Given the description of an element on the screen output the (x, y) to click on. 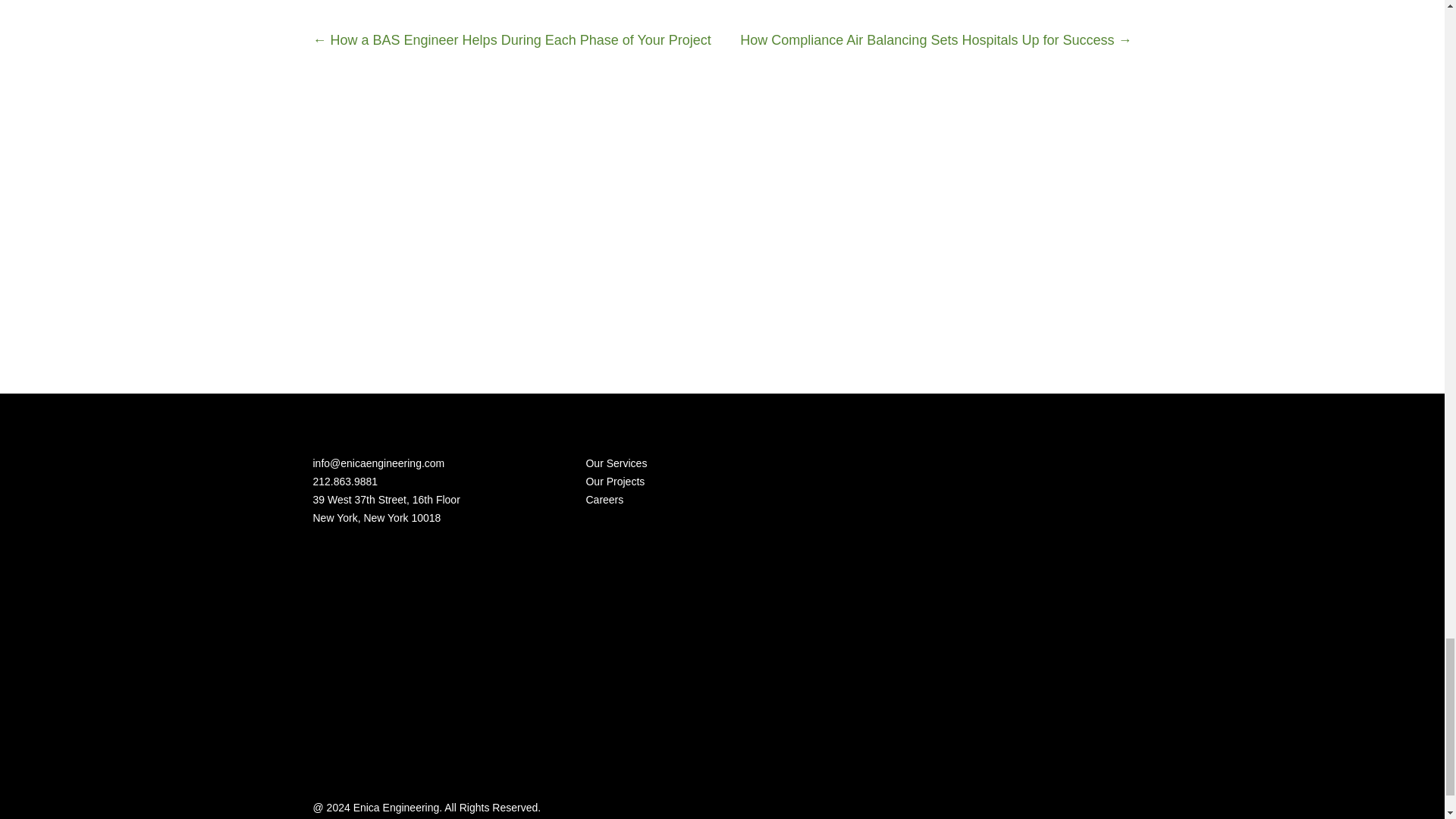
Our Projects (615, 481)
Contact Us (1087, 304)
Our Services (615, 463)
Careers (604, 499)
212.863.9881 (345, 481)
